Given the description of an element on the screen output the (x, y) to click on. 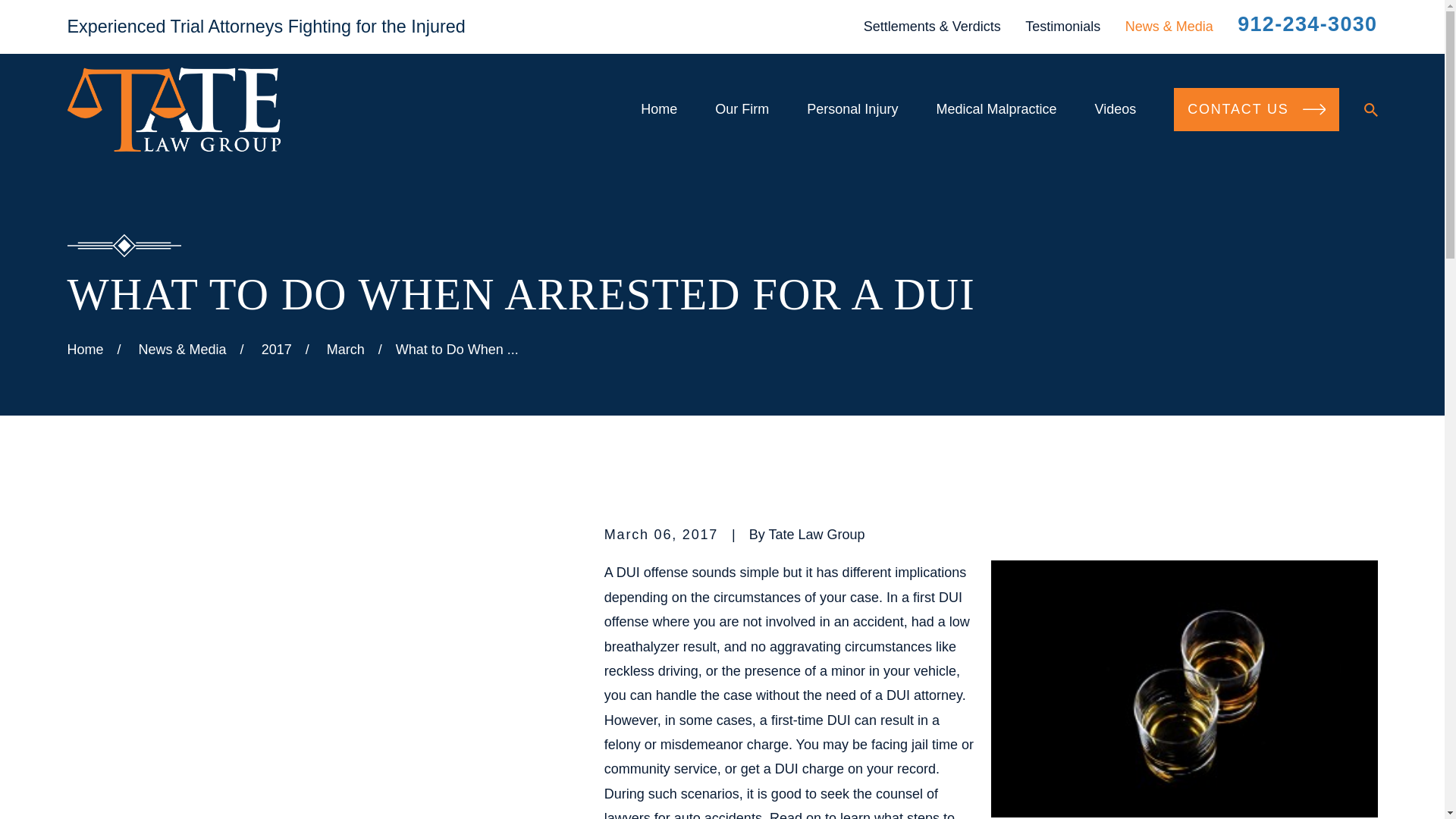
912-234-3030 (1307, 24)
Go Home (84, 349)
Testimonials (1062, 26)
Our Firm (741, 109)
Home (172, 109)
Personal Injury (852, 109)
